Given the description of an element on the screen output the (x, y) to click on. 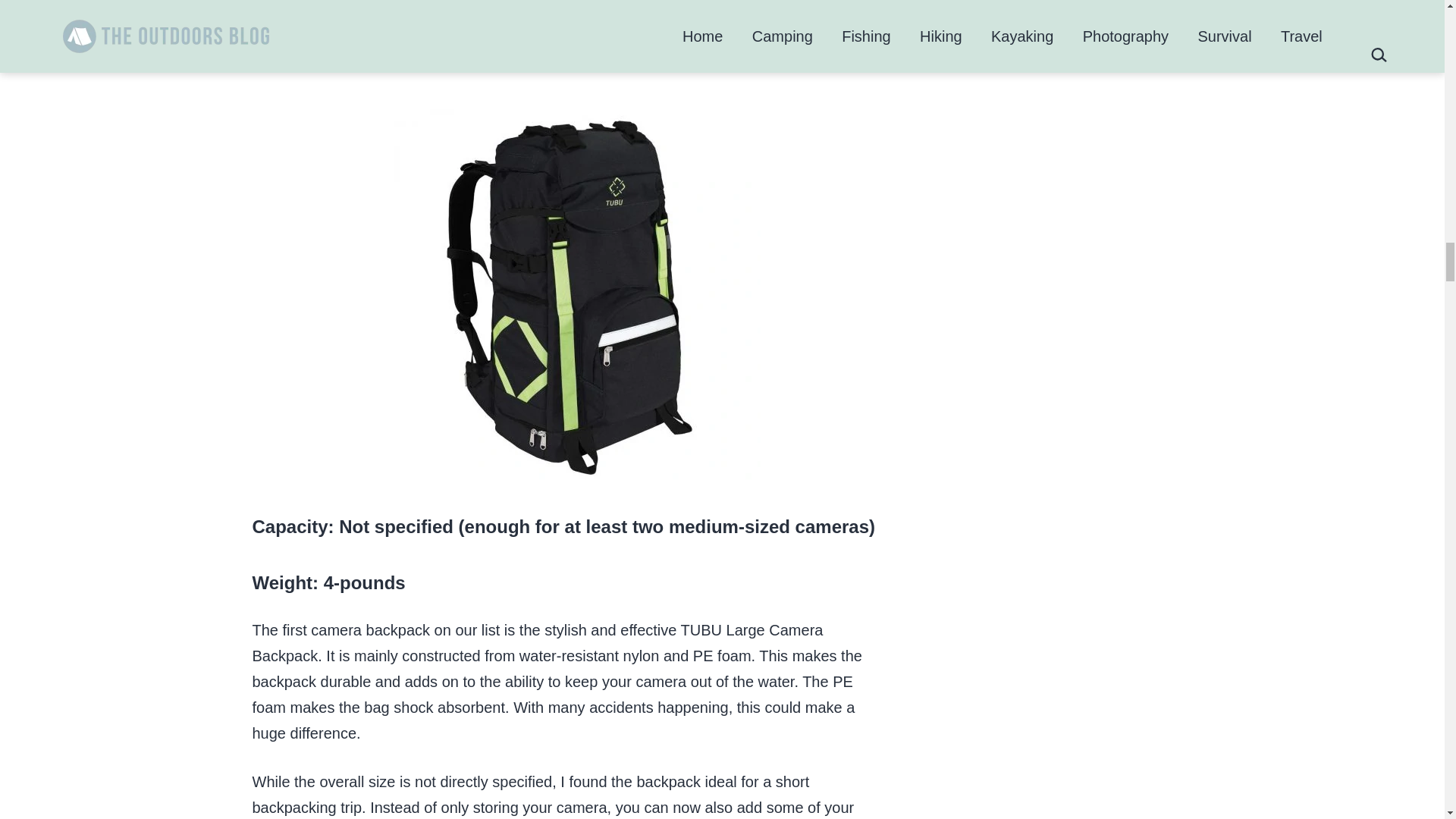
TUBU Large Camera Backpack (448, 53)
